Given the description of an element on the screen output the (x, y) to click on. 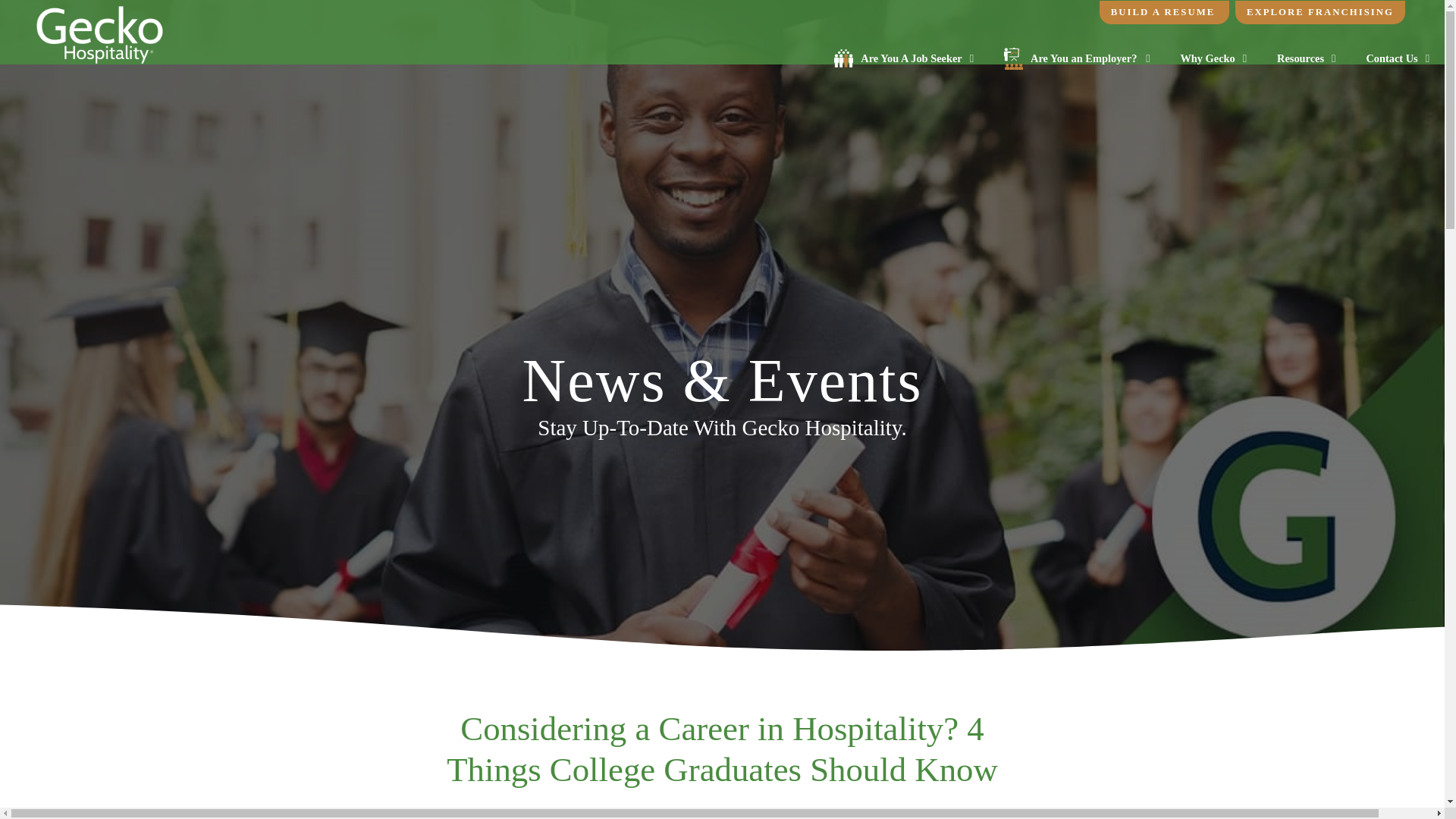
Are You A Job Seeker (903, 58)
Are You an Employer? (1076, 58)
BUILD A RESUME (1163, 12)
EXPLORE FRANCHISING (1319, 12)
Resources (1306, 58)
Why Gecko (1213, 58)
